Given the description of an element on the screen output the (x, y) to click on. 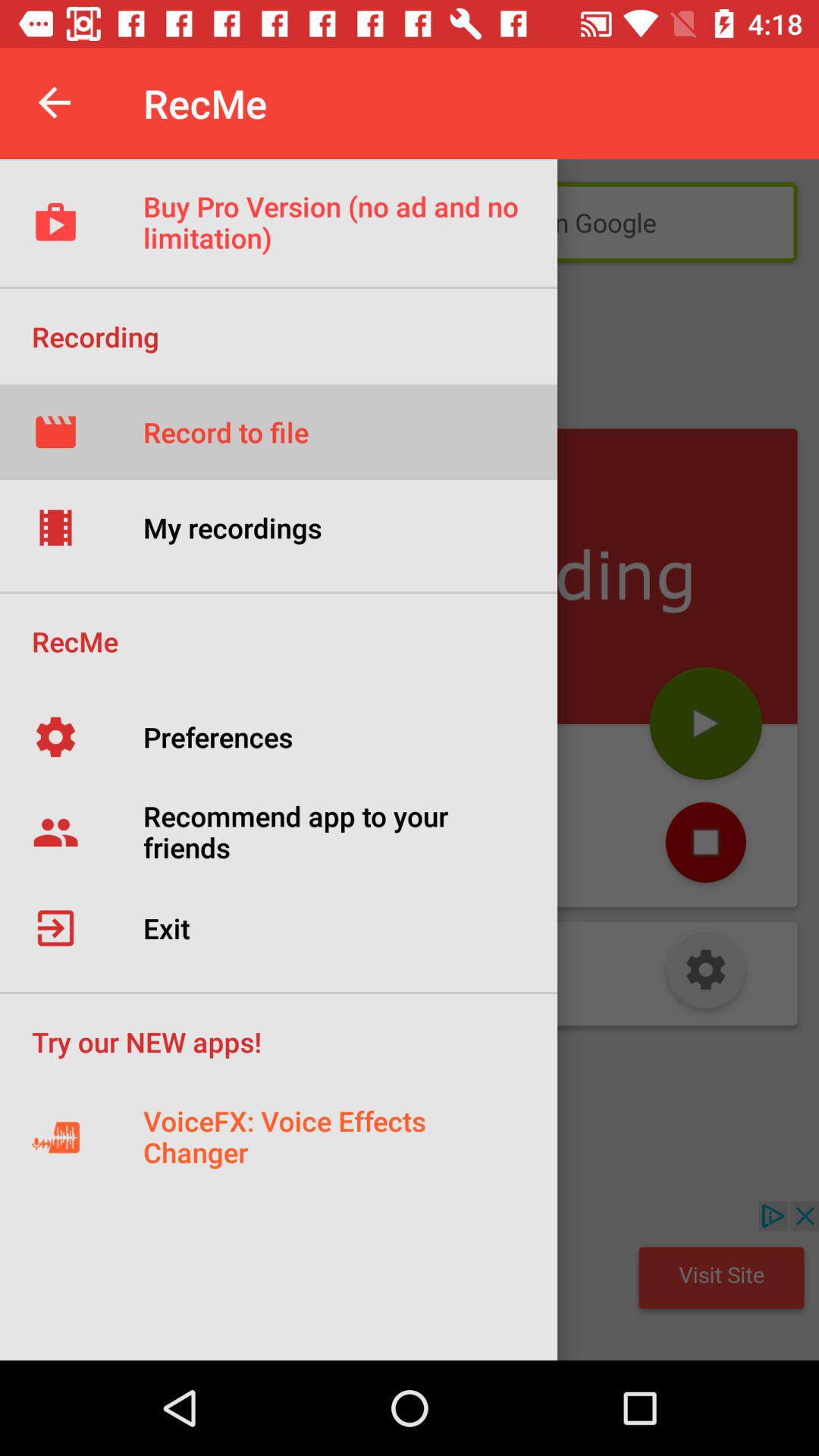
settings (705, 973)
